Given the description of an element on the screen output the (x, y) to click on. 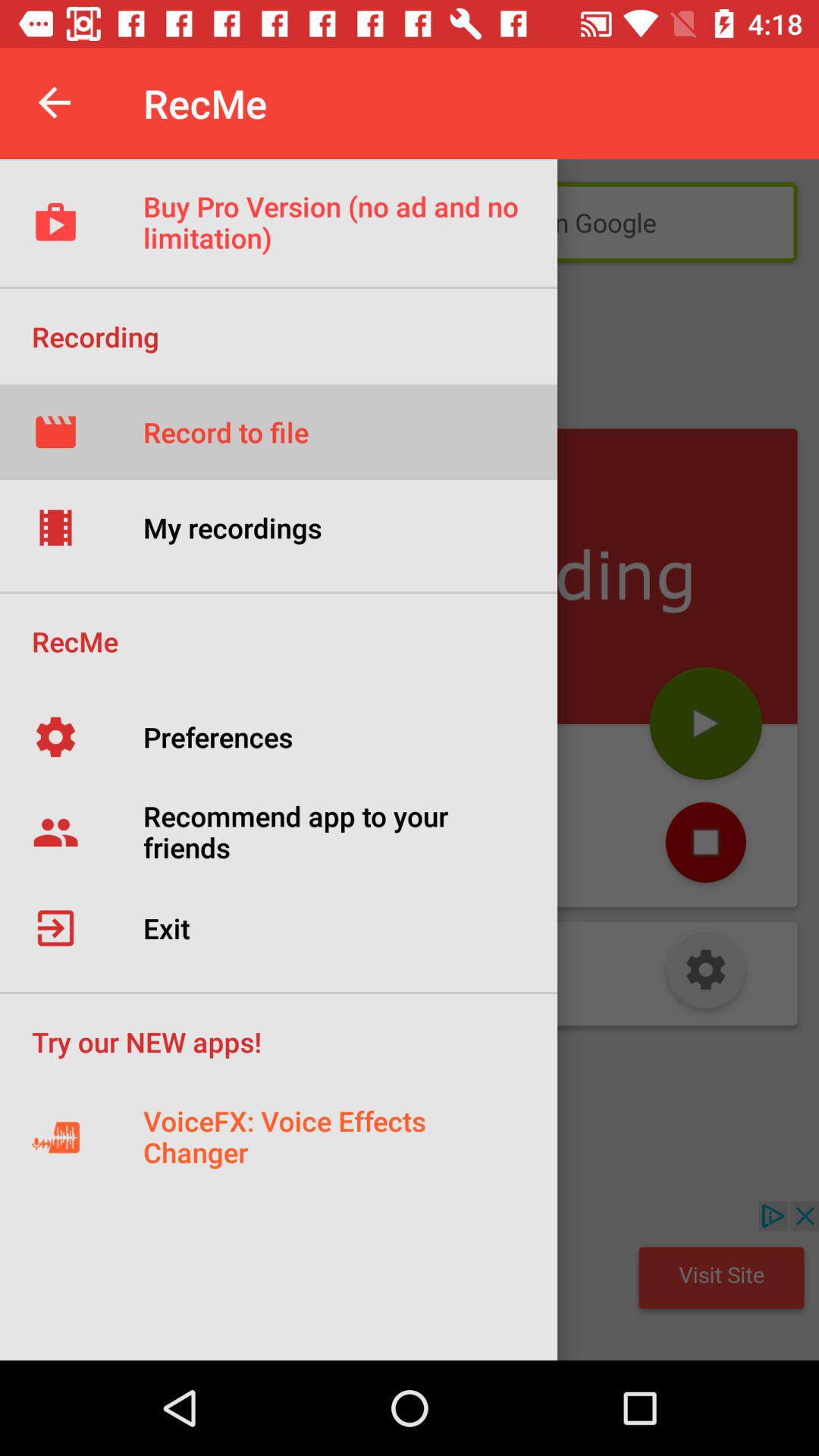
settings (705, 973)
